Given the description of an element on the screen output the (x, y) to click on. 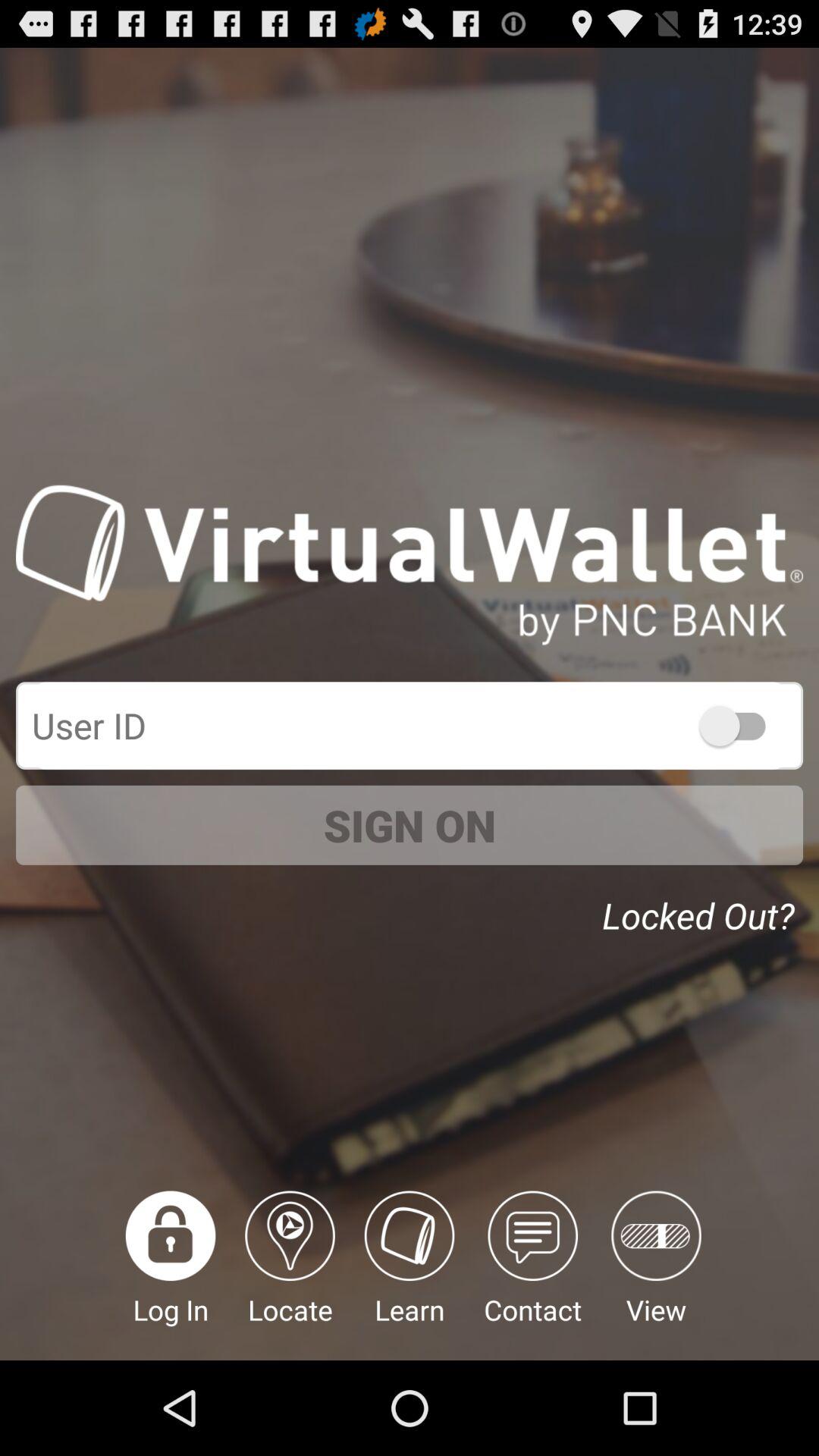
swipe to locate (289, 1275)
